Given the description of an element on the screen output the (x, y) to click on. 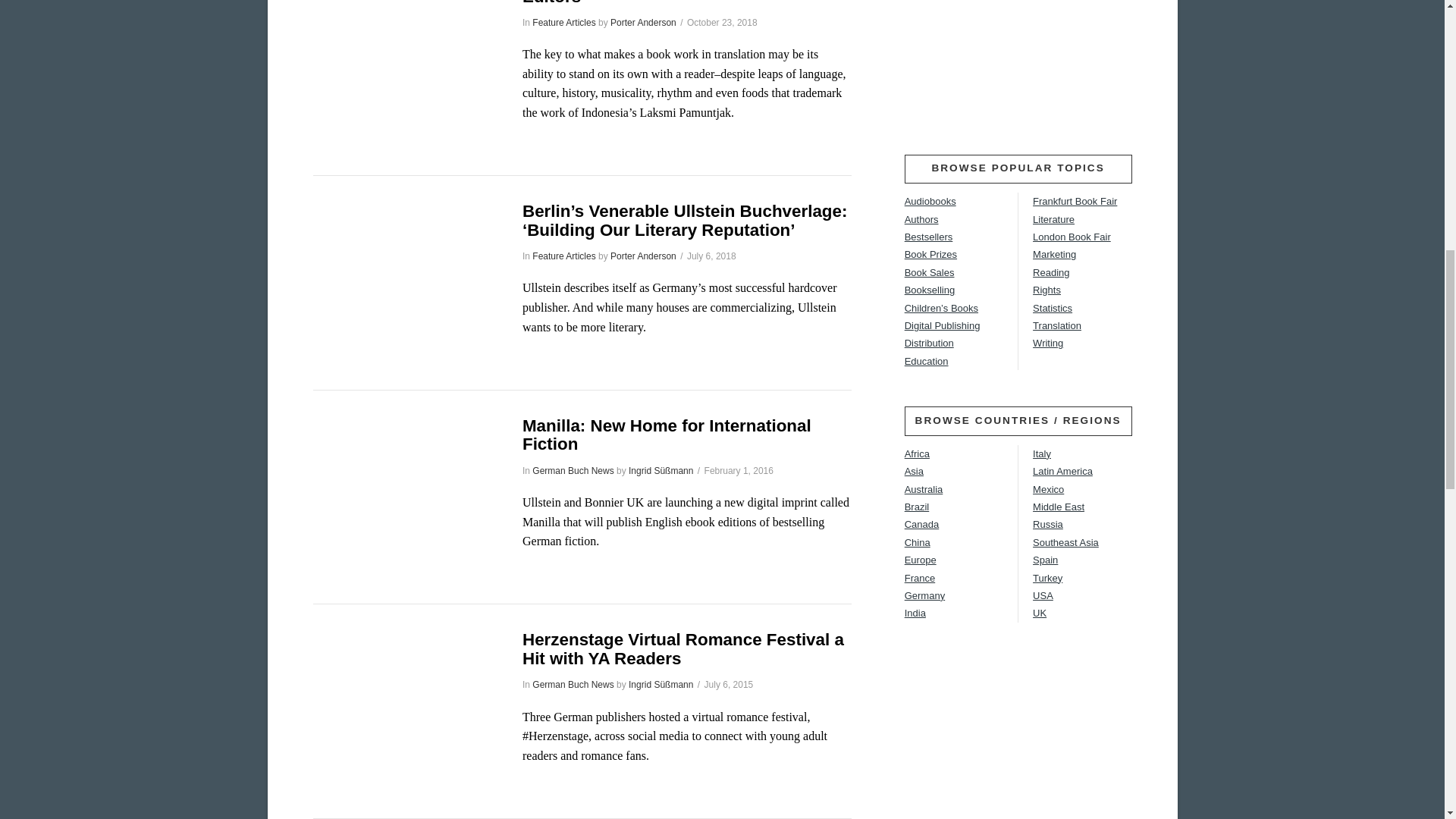
Permalink to: "Manilla: New Home for International Fiction" (666, 435)
Feature Articles (563, 22)
